Given the description of an element on the screen output the (x, y) to click on. 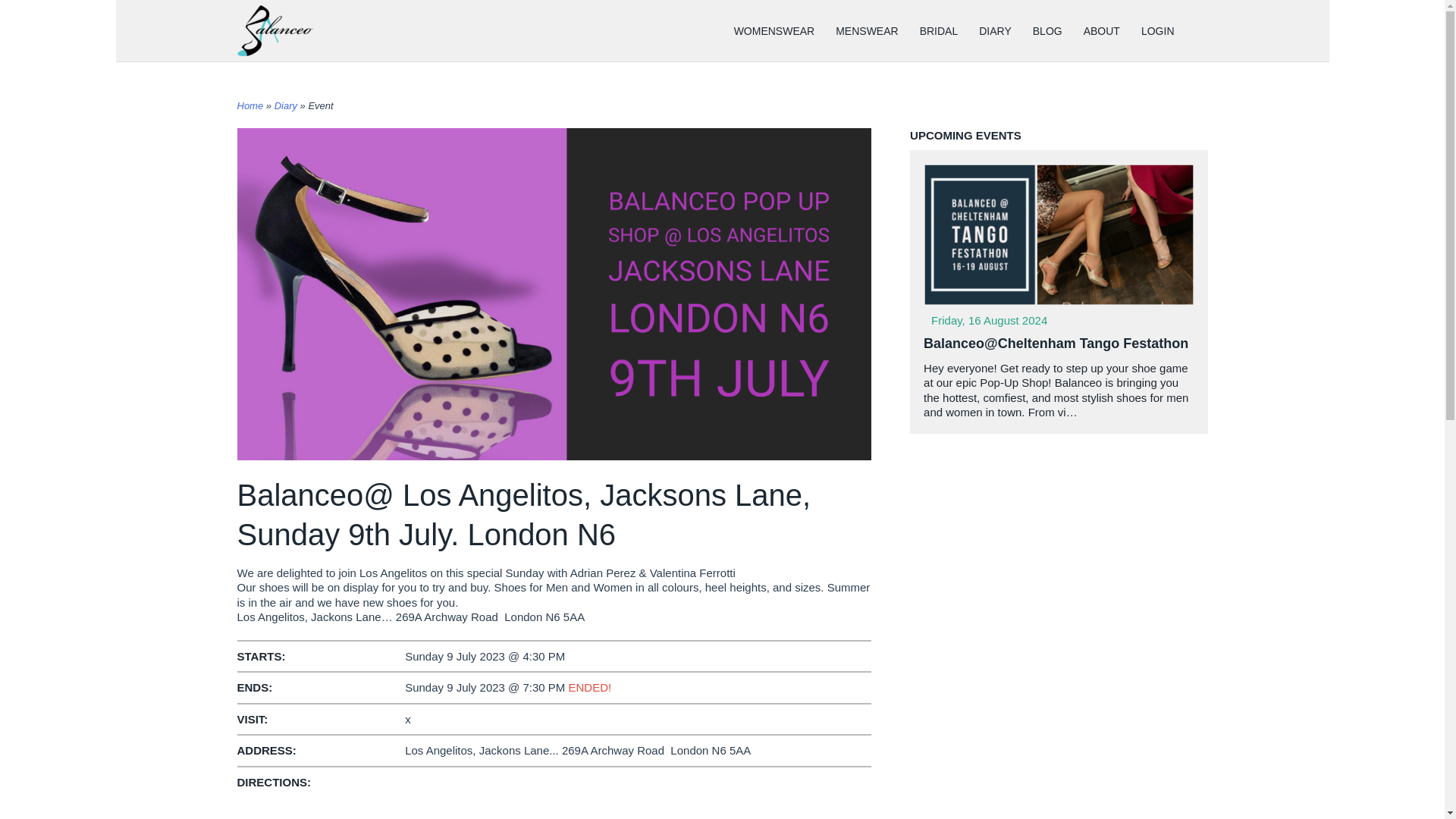
page home (274, 30)
MENSWEAR (866, 30)
Home (249, 105)
WOMENSWEAR (774, 30)
ABOUT (1102, 30)
Diary (286, 105)
BRIDAL (938, 30)
